Given the description of an element on the screen output the (x, y) to click on. 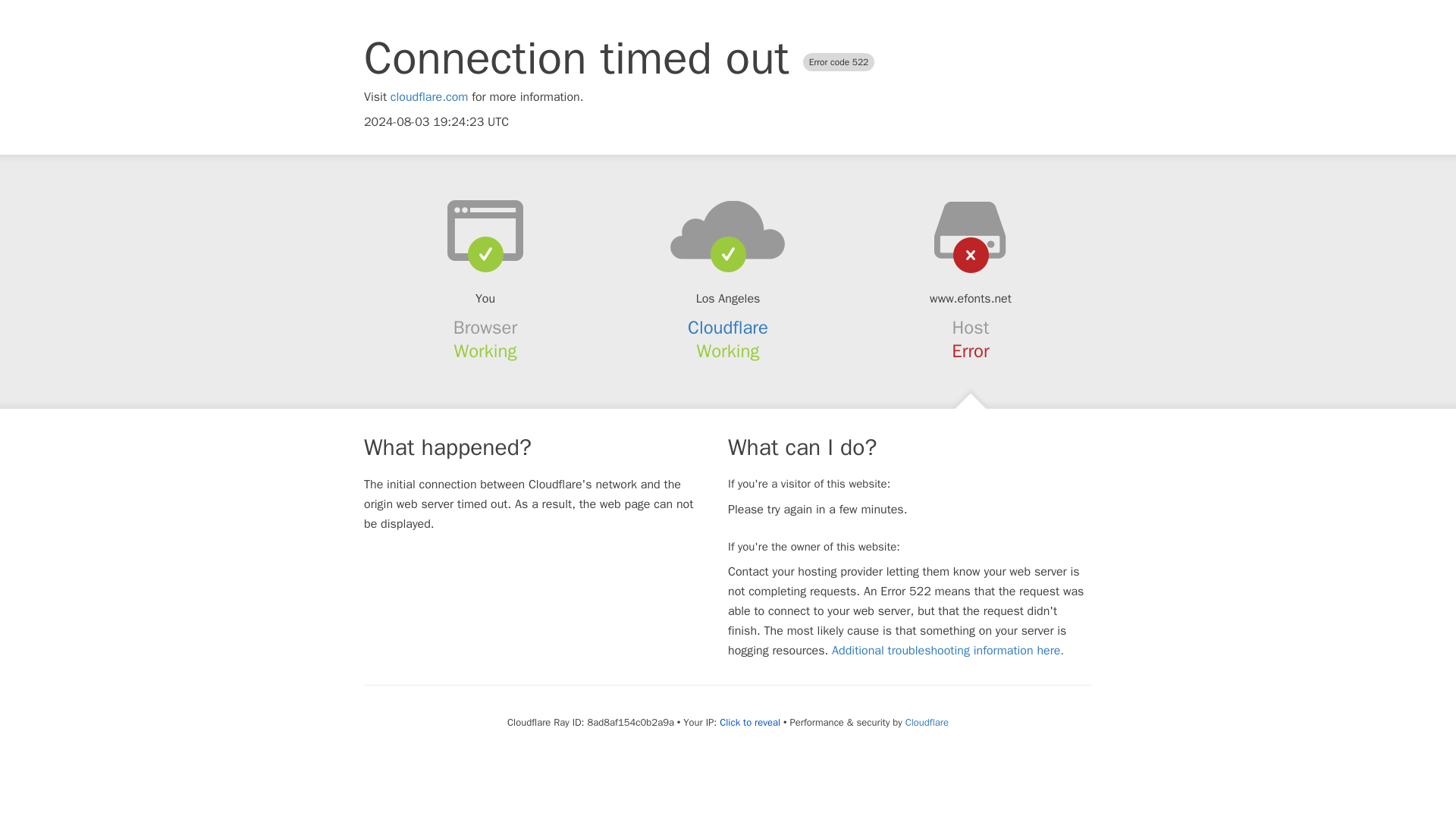
Click to reveal (749, 722)
cloudflare.com (429, 96)
Additional troubleshooting information here. (947, 650)
Cloudflare (727, 327)
Cloudflare (927, 721)
